Given the description of an element on the screen output the (x, y) to click on. 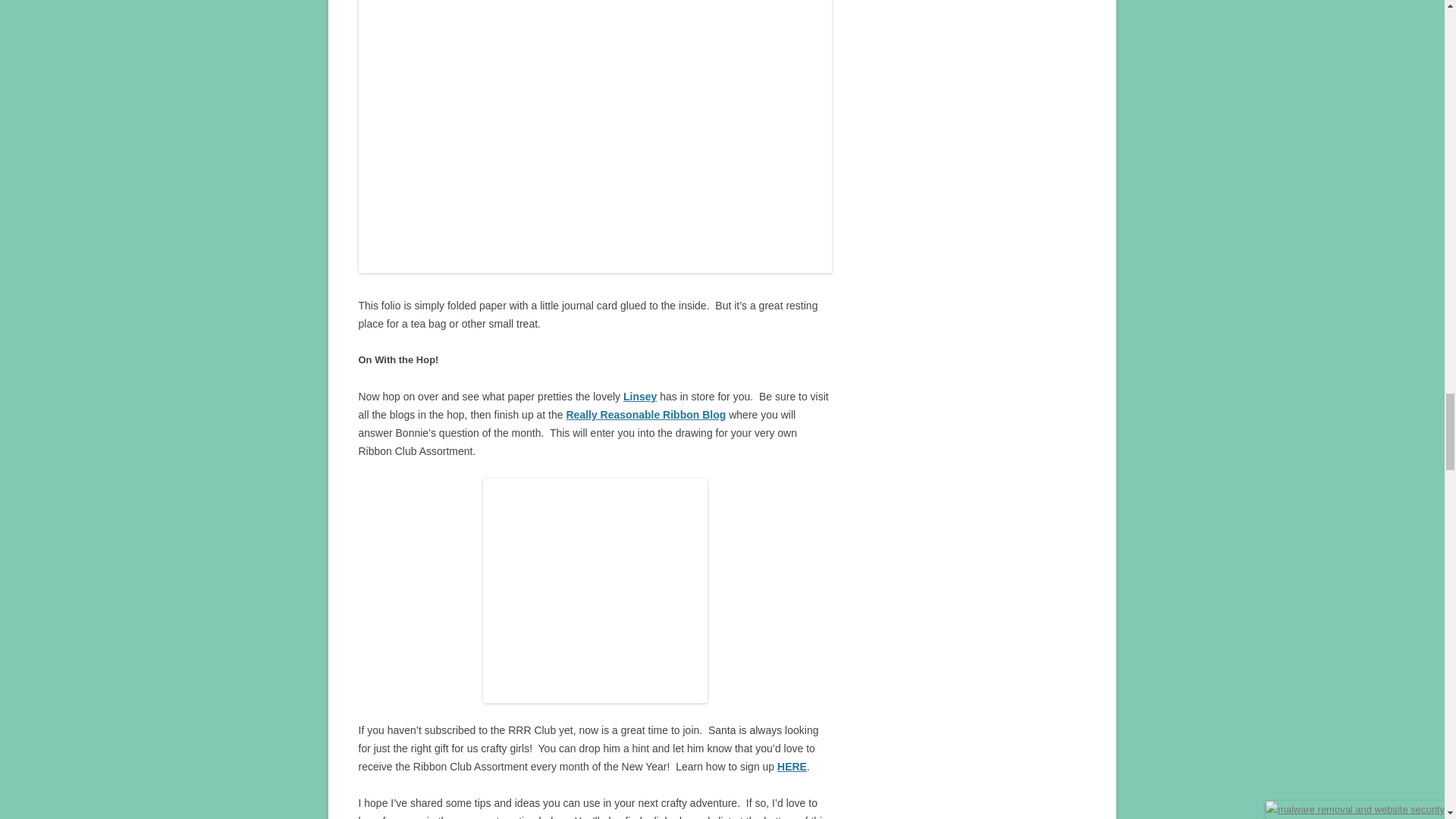
HERE (791, 766)
Linsey (639, 396)
Really Reasonable Ribbon Blog (645, 414)
